Given the description of an element on the screen output the (x, y) to click on. 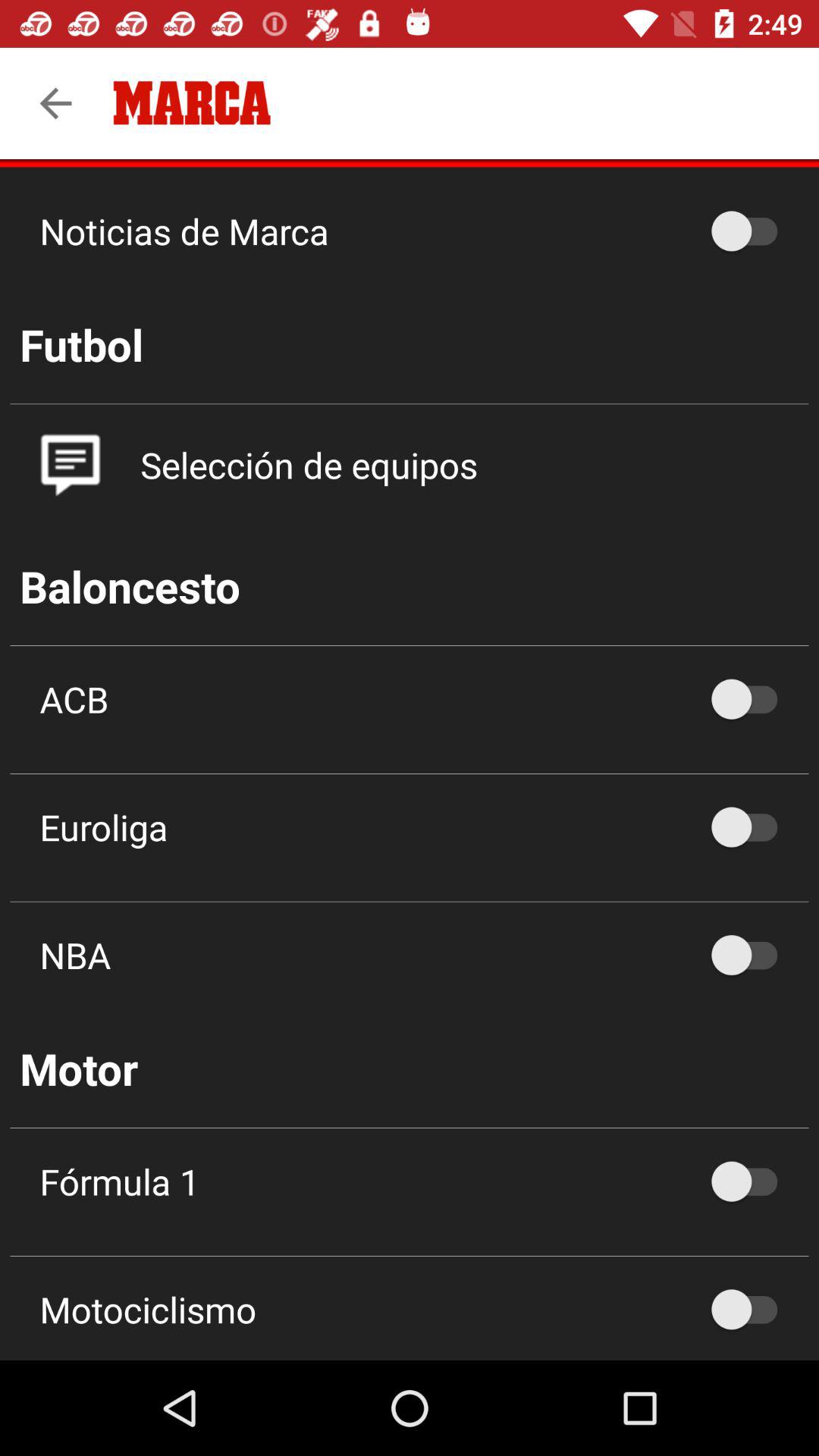
turn on motociclismo (751, 1309)
